Given the description of an element on the screen output the (x, y) to click on. 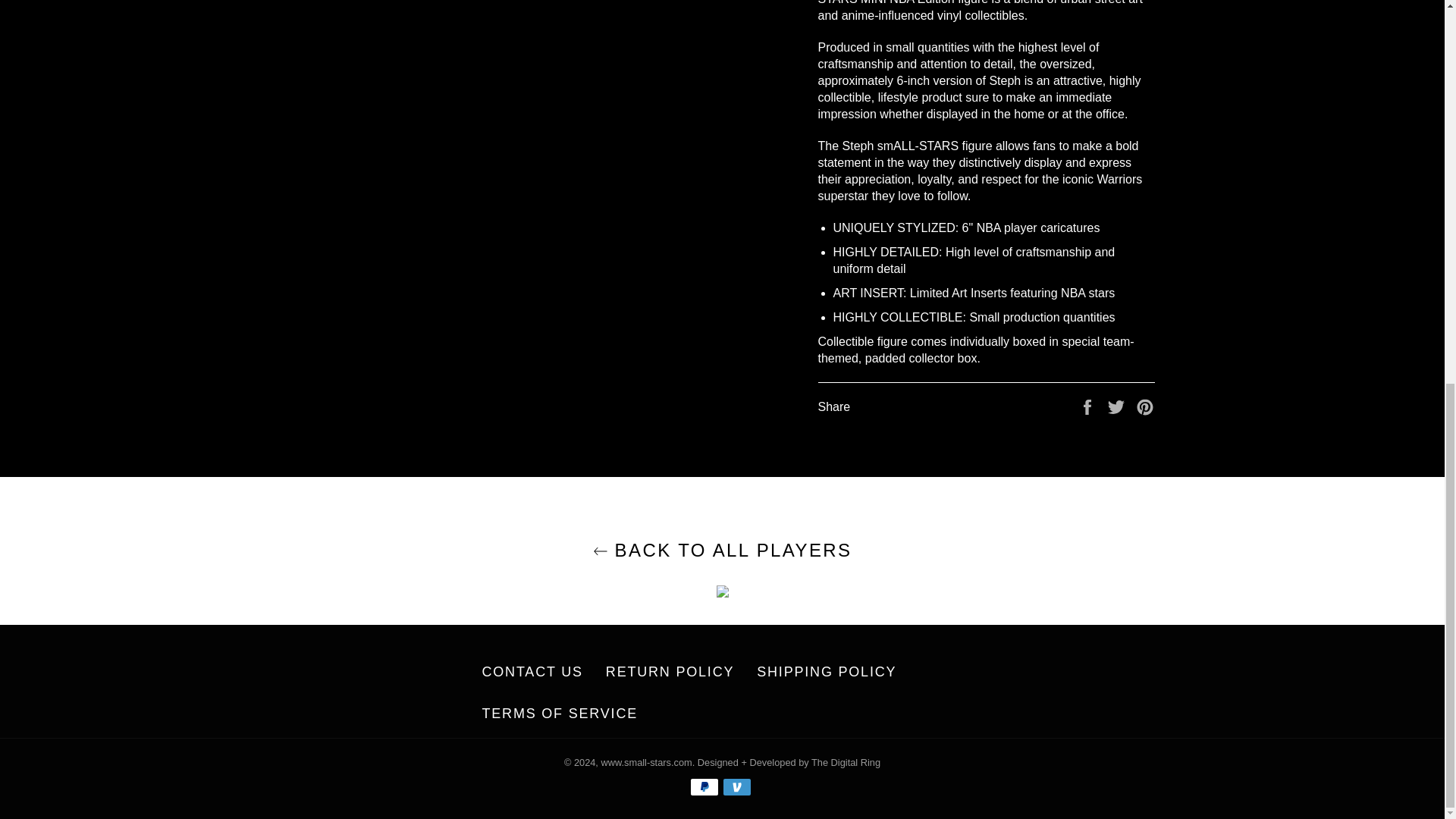
Pin on Pinterest (1144, 405)
Pin on Pinterest (1144, 405)
Tweet on Twitter (1117, 405)
Share on Facebook (1088, 405)
Share on Facebook (1088, 405)
Tweet on Twitter (1117, 405)
BACK TO ALL PLAYERS (721, 549)
